Given the description of an element on the screen output the (x, y) to click on. 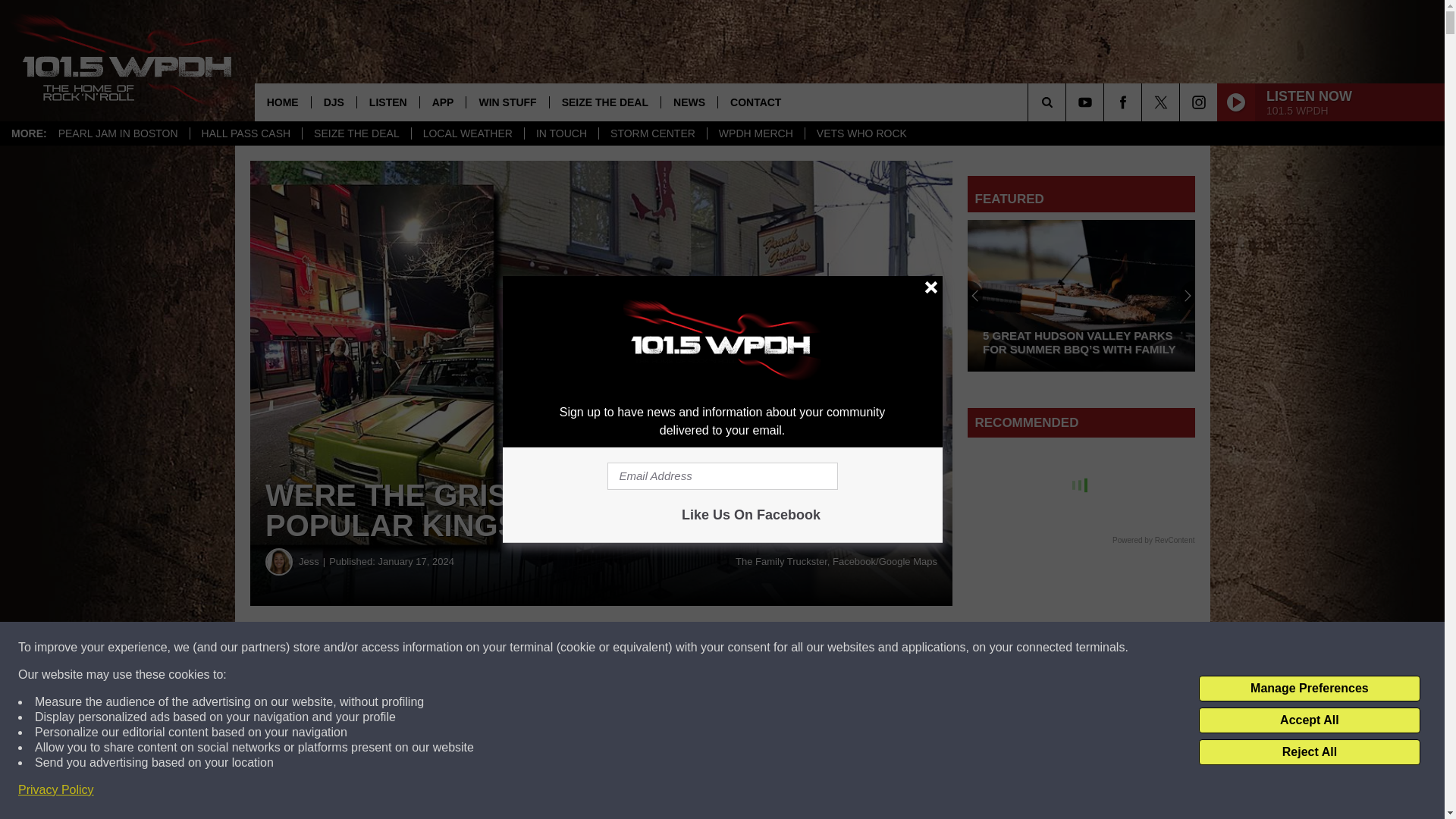
WPDH MERCH (755, 133)
Share on Facebook (460, 647)
IN TOUCH (561, 133)
WIN STUFF (506, 102)
SEARCH (1068, 102)
STORM CENTER (652, 133)
SEARCH (1068, 102)
Accept All (1309, 720)
Privacy Policy (55, 789)
Reject All (1309, 751)
Manage Preferences (1309, 688)
SEIZE THE DEAL (355, 133)
HOME (282, 102)
DJS (333, 102)
Email Address (722, 475)
